Given the description of an element on the screen output the (x, y) to click on. 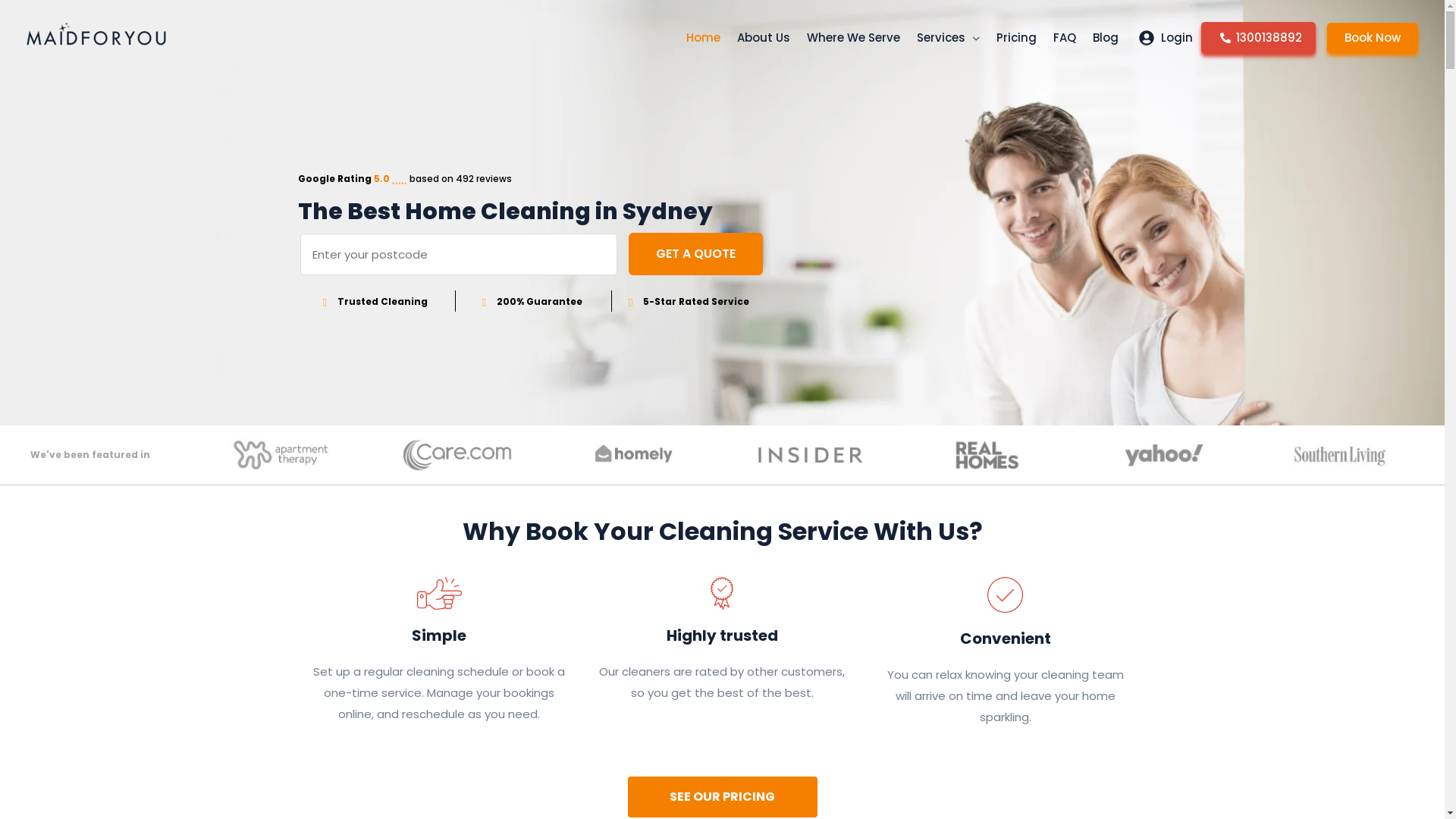
Pricing Element type: text (1016, 37)
Blog Element type: text (1105, 37)
FAQ Element type: text (1064, 37)
Services Element type: text (948, 37)
About Us Element type: text (763, 37)
1300138892 Element type: text (1258, 37)
GET A QUOTE Element type: text (695, 253)
SEE OUR PRICING Element type: text (722, 796)
Where We Serve Element type: text (853, 37)
Home Element type: text (702, 37)
Book Now Element type: text (1372, 37)
 Login Element type: text (1163, 37)
